Given the description of an element on the screen output the (x, y) to click on. 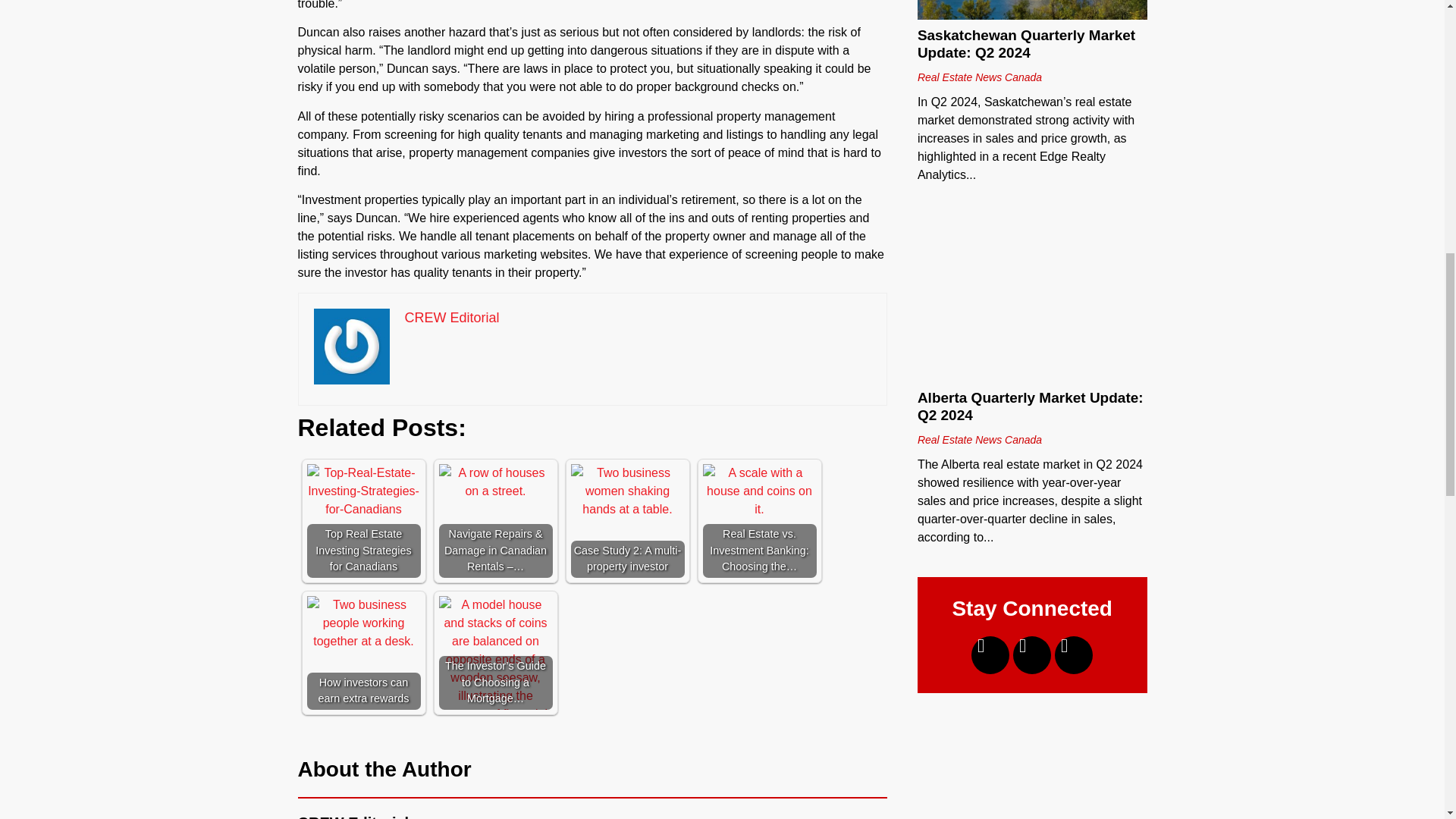
CREW Editorial (451, 317)
How investors can earn extra rewards (362, 623)
Top Real Estate Investing Strategies for Canadians (362, 491)
Case Study 2: A multi-property investor (627, 521)
Case Study 2: A multi-property investor (627, 491)
Top Real Estate Investing Strategies for Canadians (362, 521)
